Given the description of an element on the screen output the (x, y) to click on. 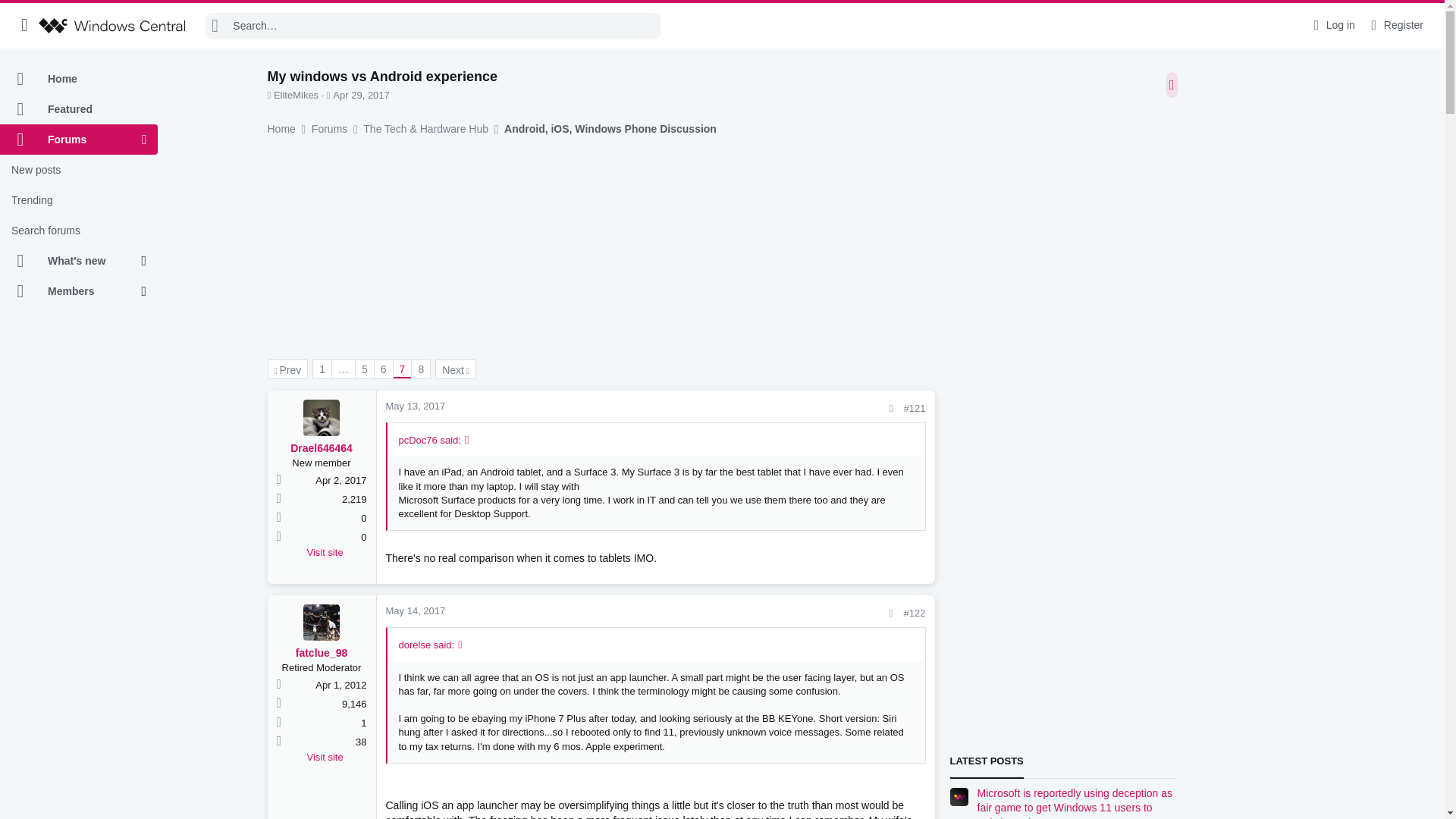
Trending (78, 200)
Forums (70, 139)
Featured (78, 109)
May 14, 2017 at 3:11 AM (415, 610)
Search forums (78, 230)
Register (1395, 24)
Log in (1332, 24)
Home (78, 78)
Apr 29, 2017 at 3:11 PM (360, 94)
May 13, 2017 at 5:22 AM (415, 405)
New posts (78, 169)
What's new (70, 260)
